Given the description of an element on the screen output the (x, y) to click on. 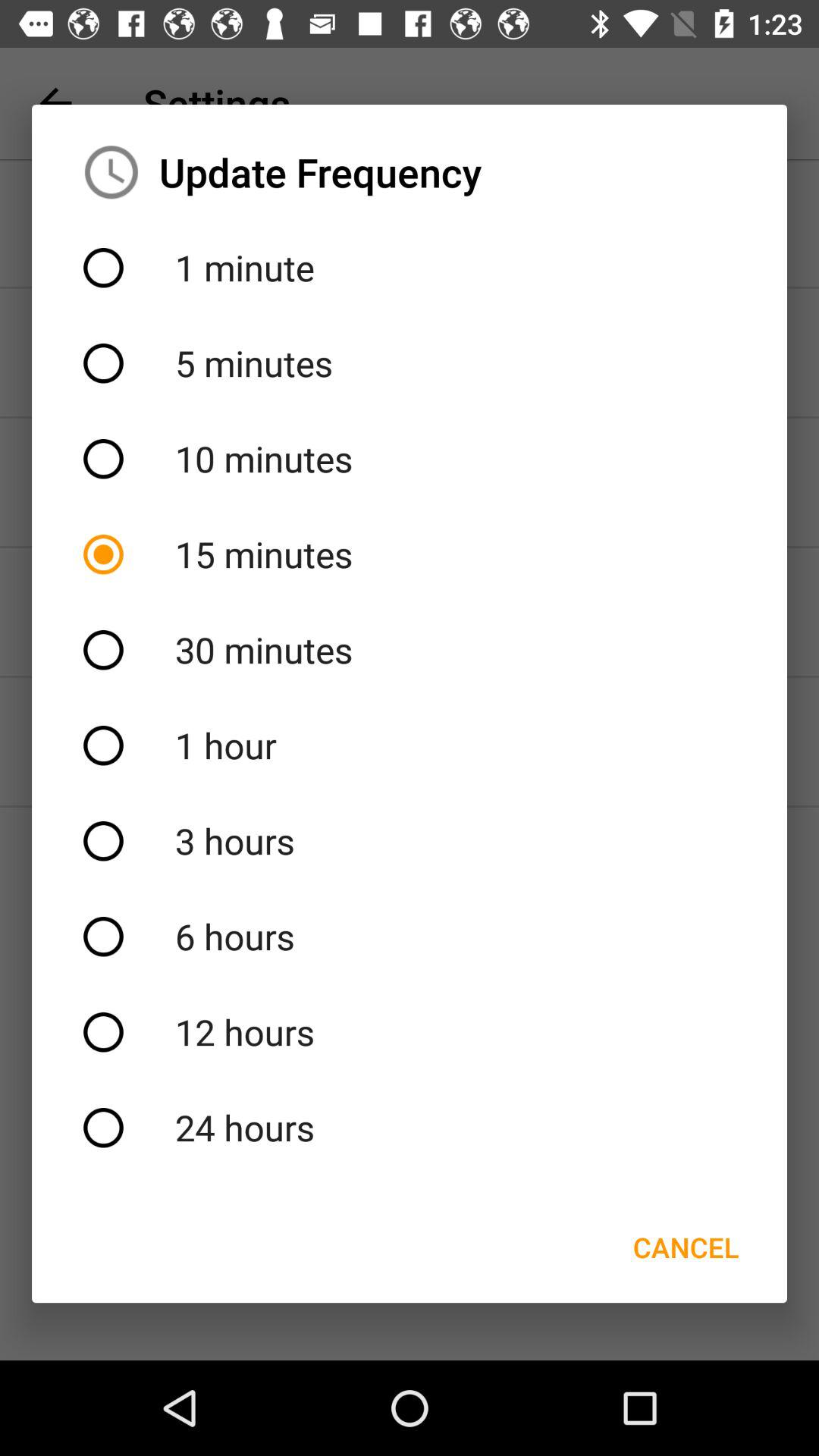
choose the 10 minutes (409, 458)
